Given the description of an element on the screen output the (x, y) to click on. 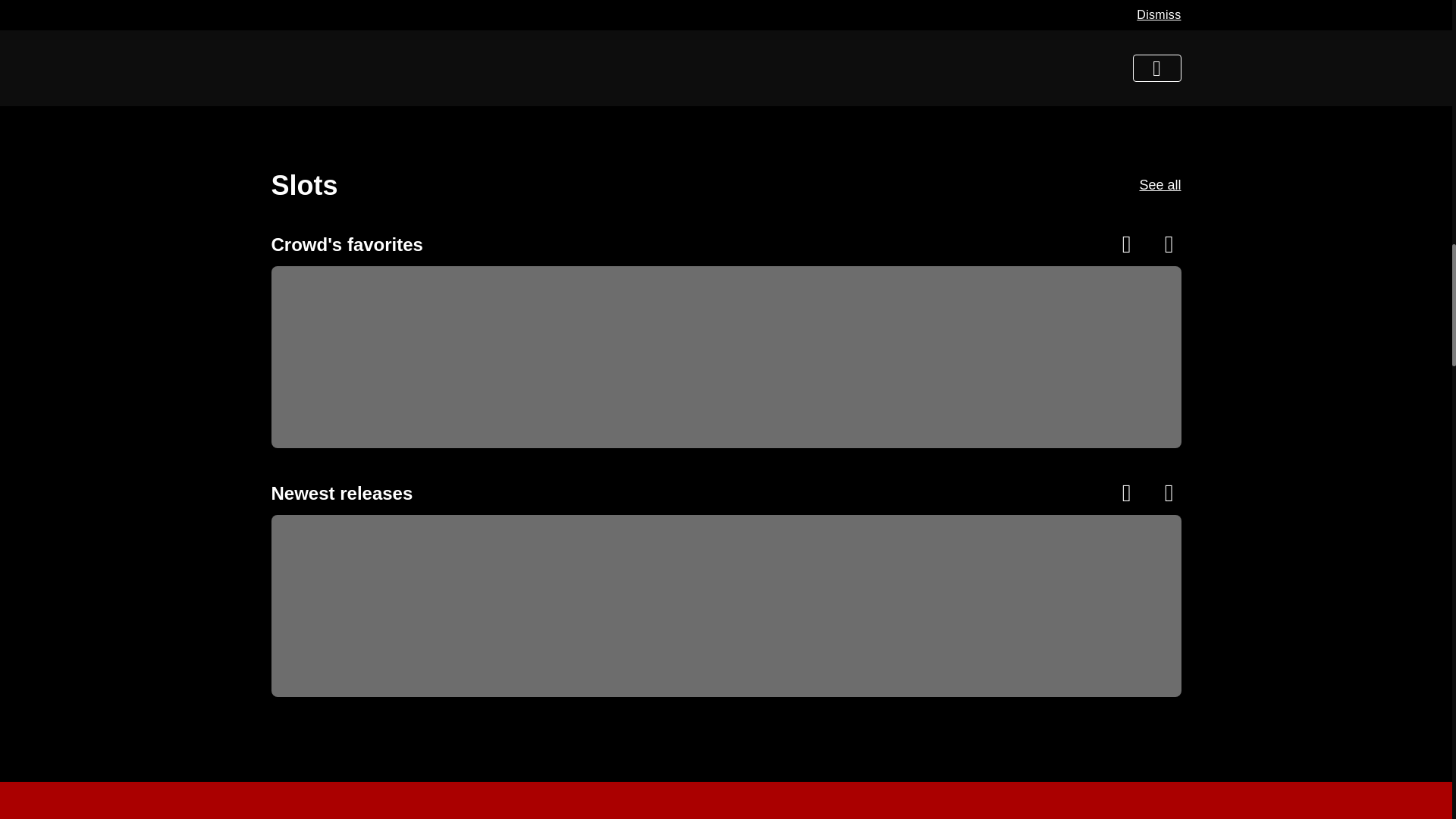
See all (1159, 184)
